Given the description of an element on the screen output the (x, y) to click on. 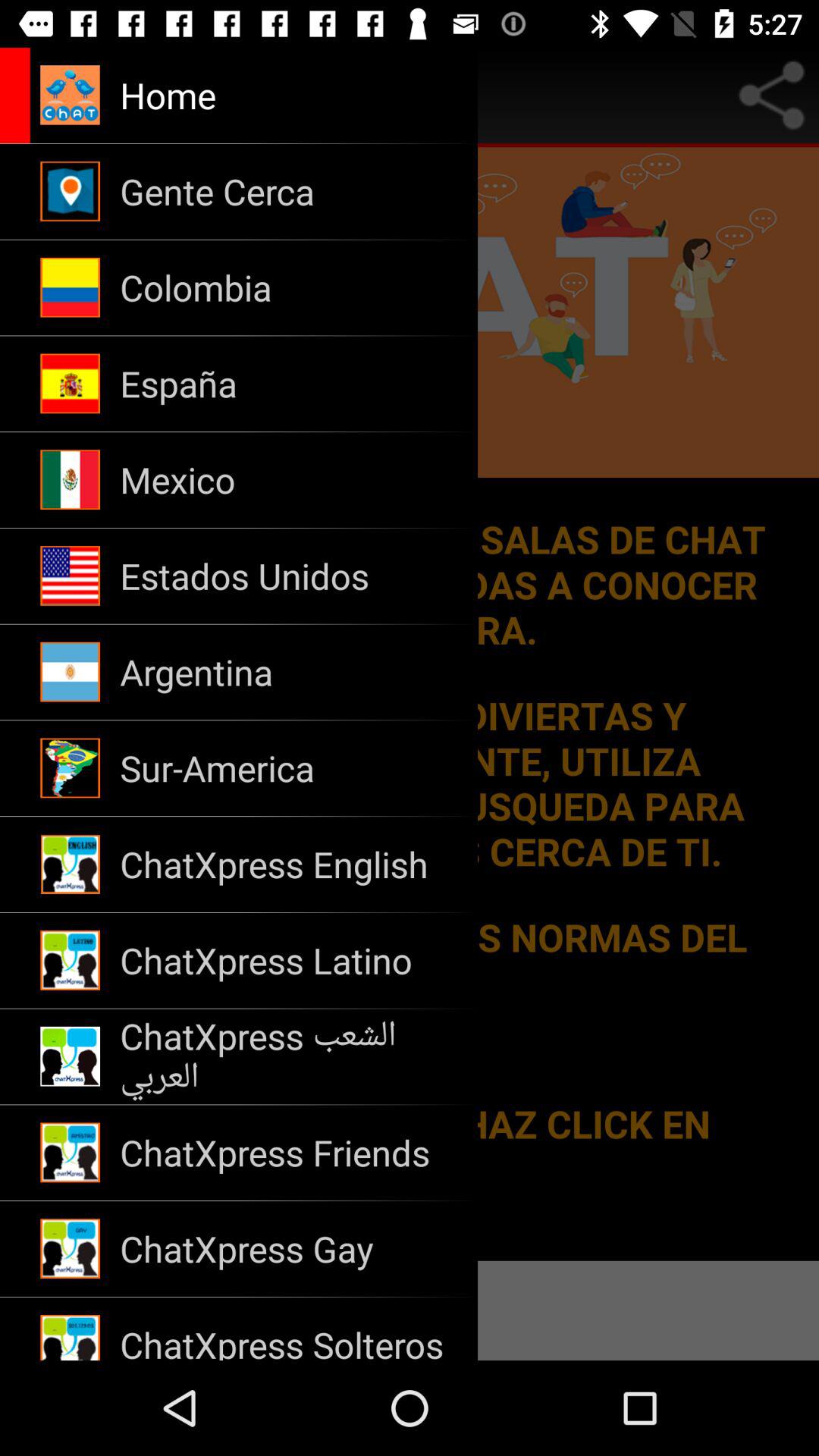
swipe to colombia app (288, 287)
